Given the description of an element on the screen output the (x, y) to click on. 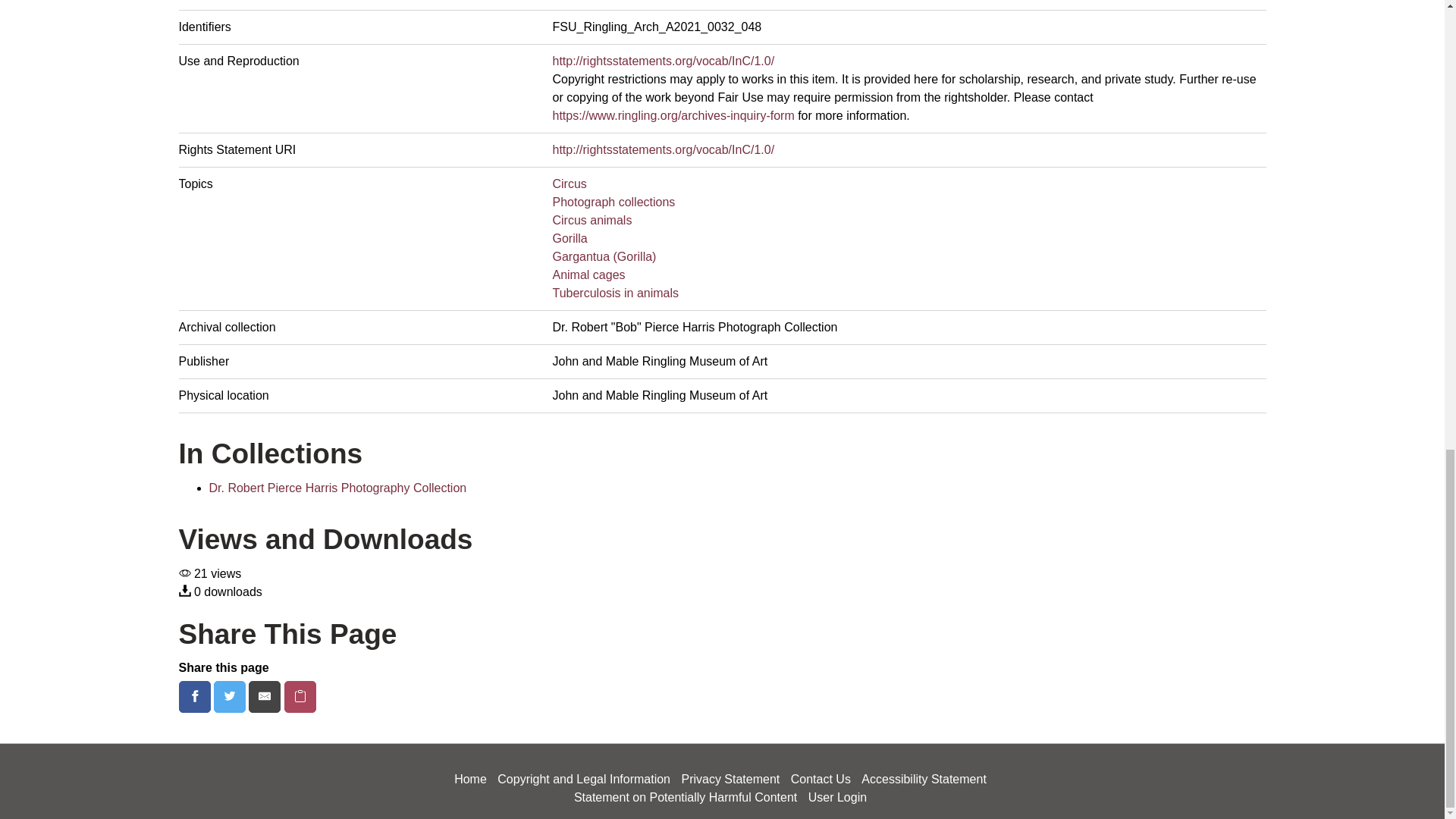
Photograph collections (613, 202)
Circus (568, 183)
Gorilla (568, 238)
Tuberculosis in animals (614, 293)
Circus animals (591, 220)
Share on Twitter (231, 696)
Share via Email (265, 696)
Dr. Robert Pierce Harris Photography Collection (338, 488)
Share on Facebook (196, 696)
Animal cages (587, 274)
Copy permalink (299, 696)
